Given the description of an element on the screen output the (x, y) to click on. 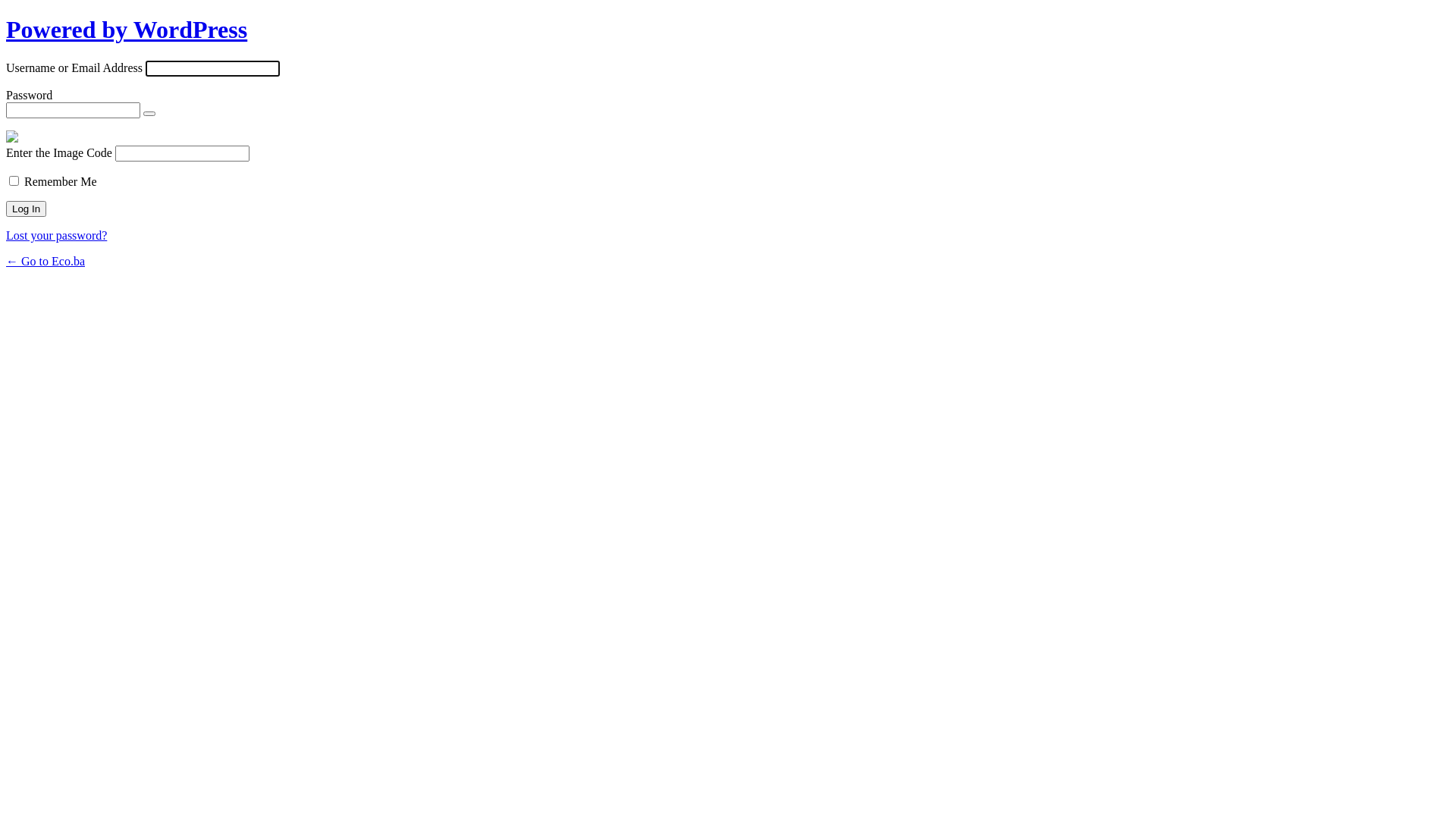
Log In Element type: text (26, 208)
Powered by WordPress Element type: text (126, 29)
Lost your password? Element type: text (56, 235)
